Given the description of an element on the screen output the (x, y) to click on. 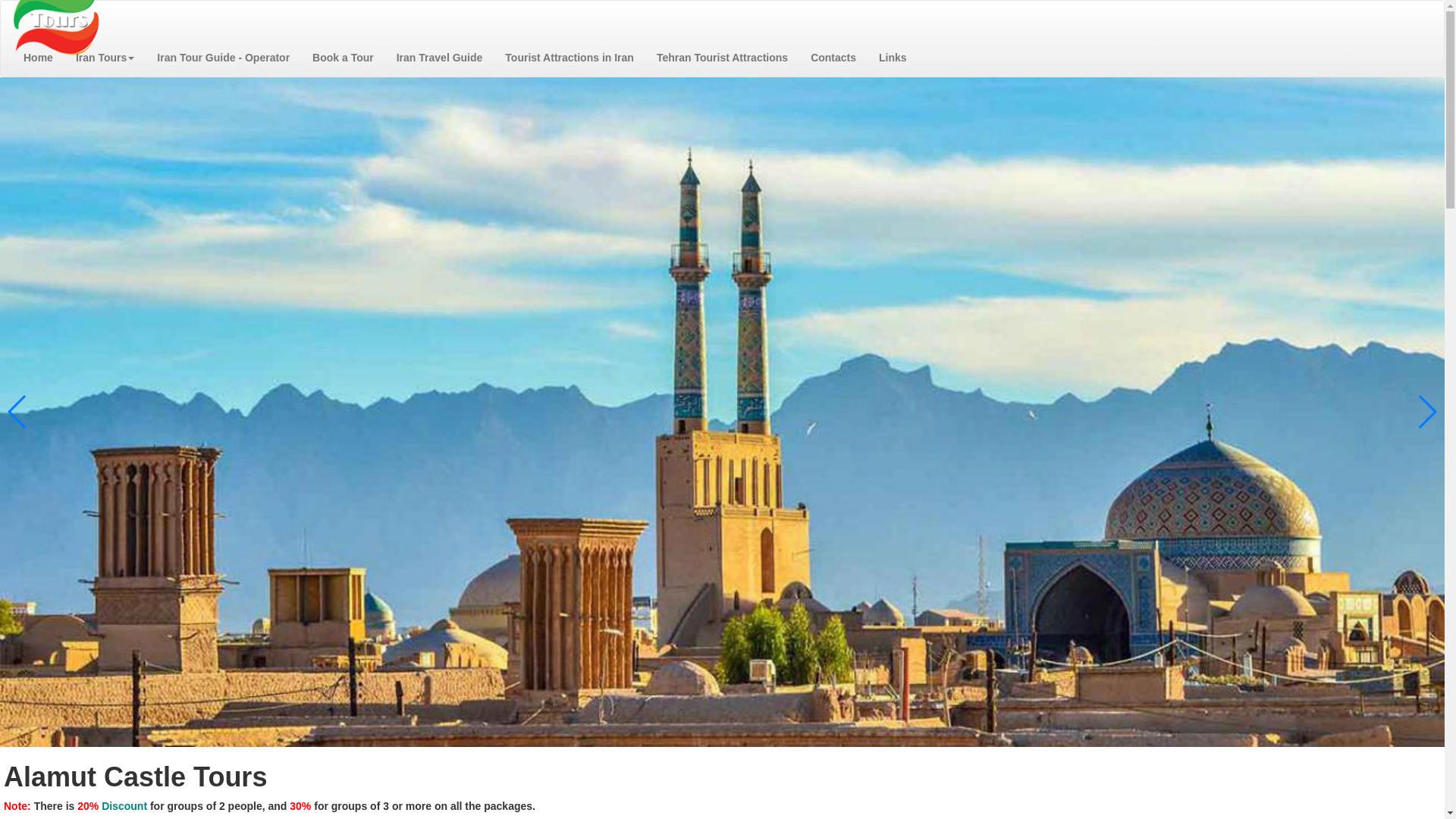
Links (892, 57)
Book a Tour (343, 57)
Tourist Attractions in Iran (569, 57)
Iran Tours (104, 57)
Contacts (833, 57)
Iran Travel Guide (440, 57)
Links (892, 57)
Iran Tour Guide - Operator (223, 57)
Tehran Tourist Attractions (722, 57)
Home (37, 57)
